Given the description of an element on the screen output the (x, y) to click on. 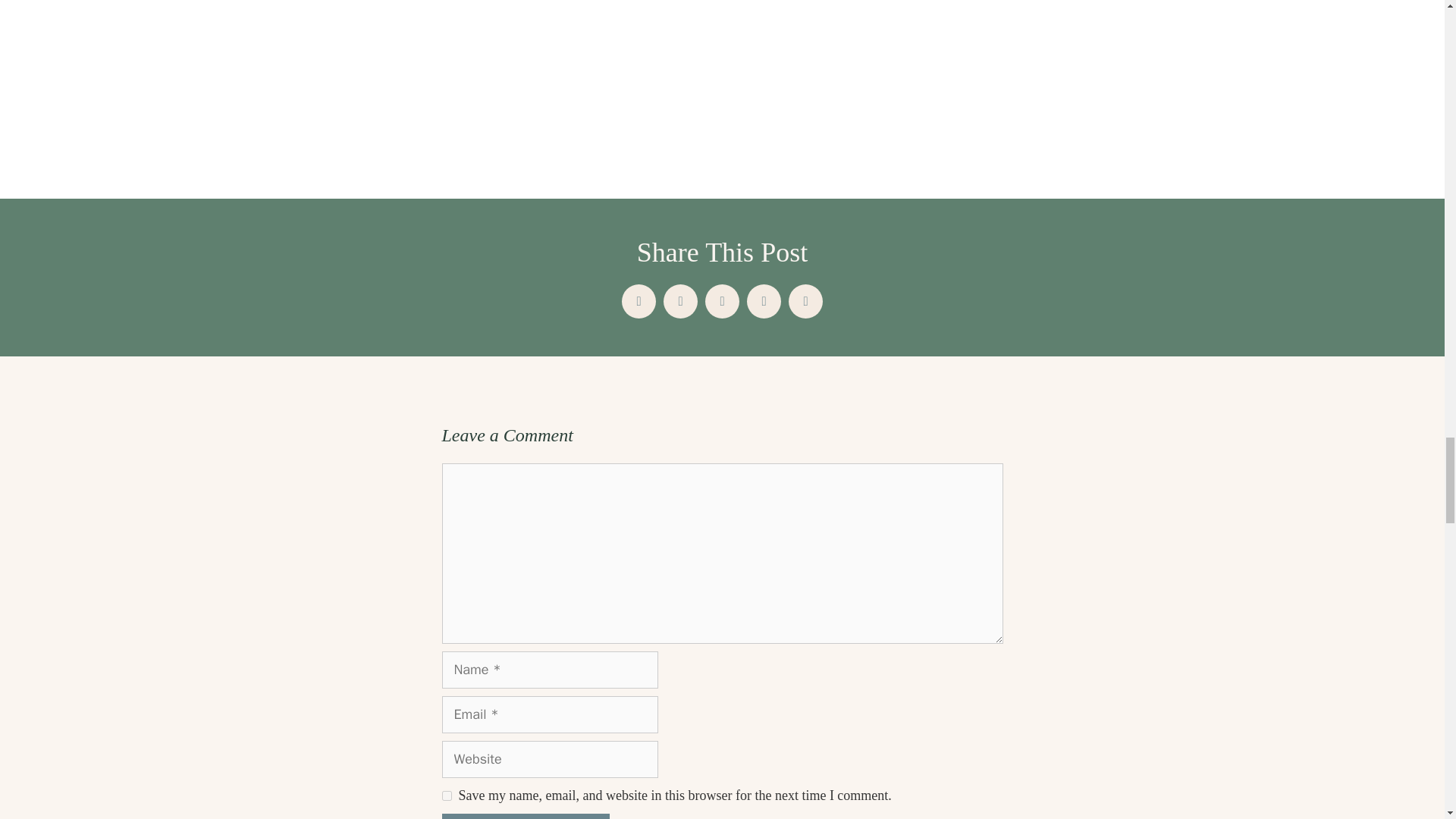
Post Comment (525, 816)
Post Comment (525, 816)
yes (446, 795)
